Given the description of an element on the screen output the (x, y) to click on. 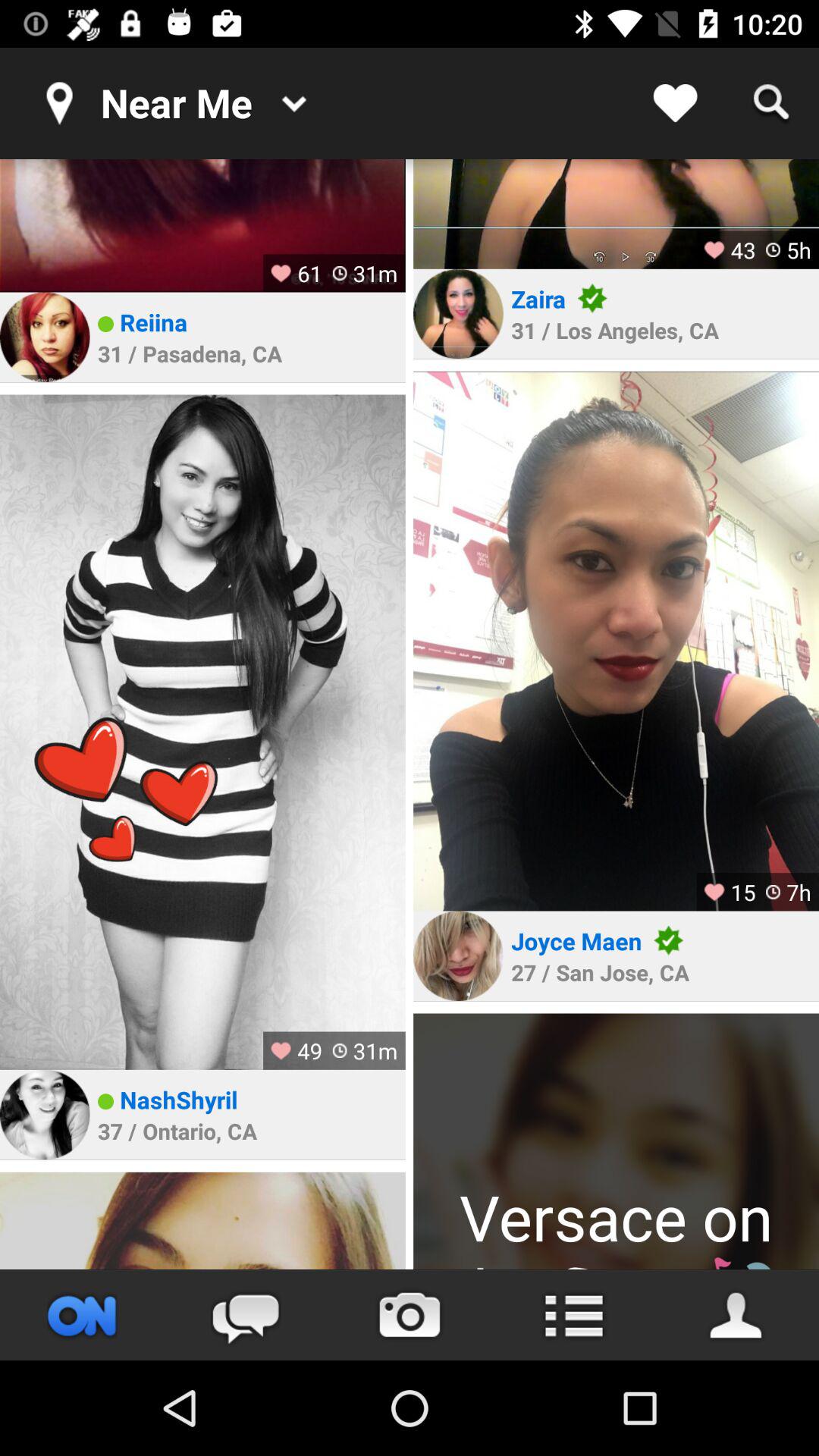
view profile (44, 337)
